Given the description of an element on the screen output the (x, y) to click on. 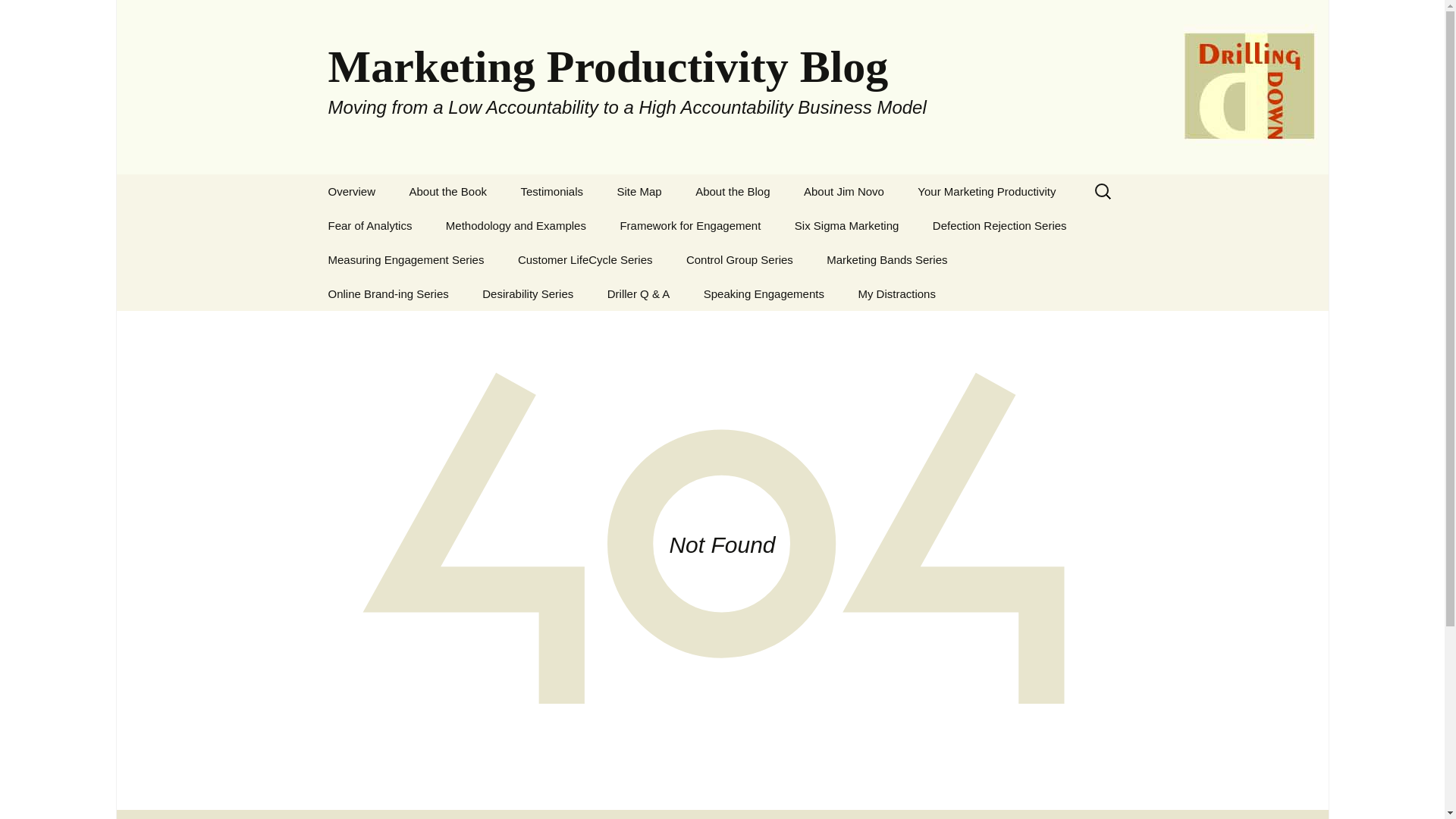
Overview (351, 191)
Online Brand-ing Series (388, 293)
Framework for Engagement (690, 225)
About the Book (447, 191)
Customer LifeCycle Series (585, 259)
About the Blog (731, 191)
Search (18, 15)
Desirability Series (527, 293)
Search (37, 15)
Marketing Bands Series (886, 259)
Methodology and Examples (515, 225)
Measuring Engagement Series (406, 259)
Fear of Analytics (369, 225)
